Given the description of an element on the screen output the (x, y) to click on. 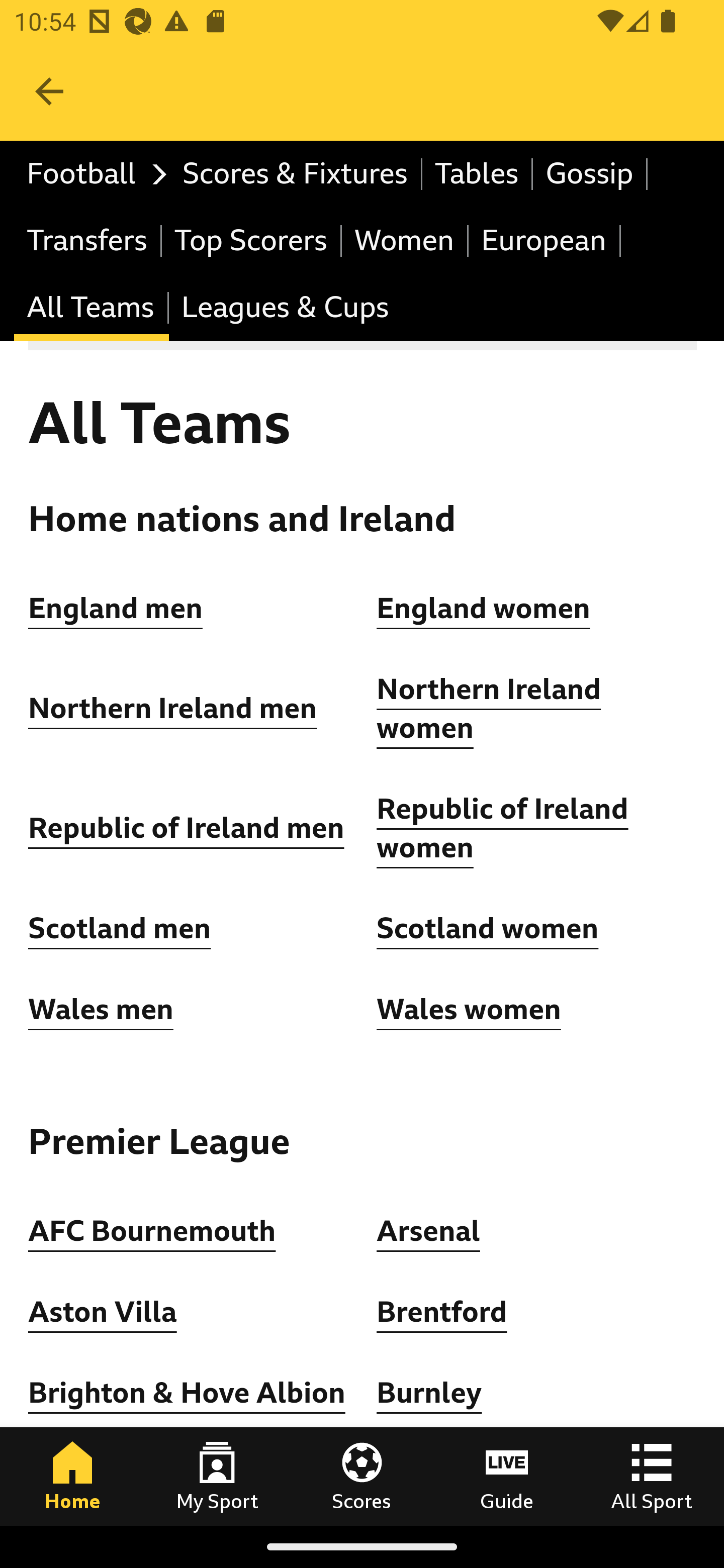
Navigate up (49, 91)
Football (91, 173)
Scores & Fixtures (295, 173)
Tables (477, 173)
Gossip (590, 173)
Transfers (88, 240)
Top Scorers (251, 240)
Women (405, 240)
European (544, 240)
All Teams (91, 308)
Leagues & Cups (284, 308)
England men (116, 608)
England women (483, 608)
Northern Ireland women (488, 709)
Northern Ireland men (173, 708)
Republic of Ireland women (502, 828)
Republic of Ireland men (186, 827)
Scotland men (120, 929)
Scotland women (487, 929)
Wales men (100, 1009)
Wales women (468, 1009)
AFC Bournemouth (151, 1230)
Arsenal (428, 1230)
Aston Villa (102, 1312)
Brentford (442, 1312)
Brighton & Hove Albion (187, 1393)
Burnley (429, 1393)
My Sport (216, 1475)
Scores (361, 1475)
Guide (506, 1475)
All Sport (651, 1475)
